Given the description of an element on the screen output the (x, y) to click on. 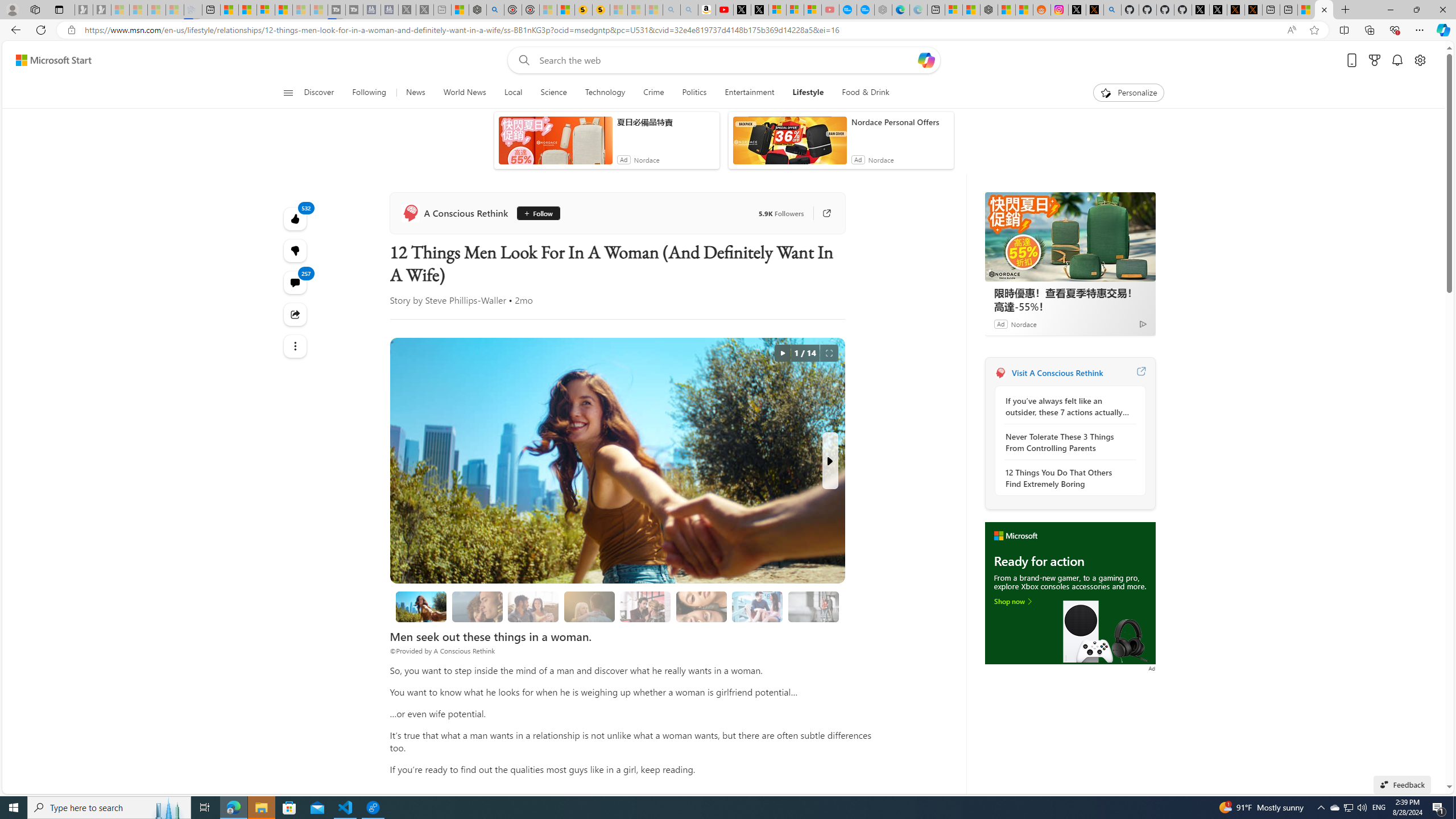
Open settings (1420, 60)
Newsletter Sign Up - Sleeping (102, 9)
Shanghai, China Weather trends | Microsoft Weather (1024, 9)
The most popular Google 'how to' searches (865, 9)
Amazon Echo Dot PNG - Search Images - Sleeping (689, 9)
Class: button-glyph (287, 92)
To get missing image descriptions, open the context menu. (1070, 593)
News (415, 92)
